Given the description of an element on the screen output the (x, y) to click on. 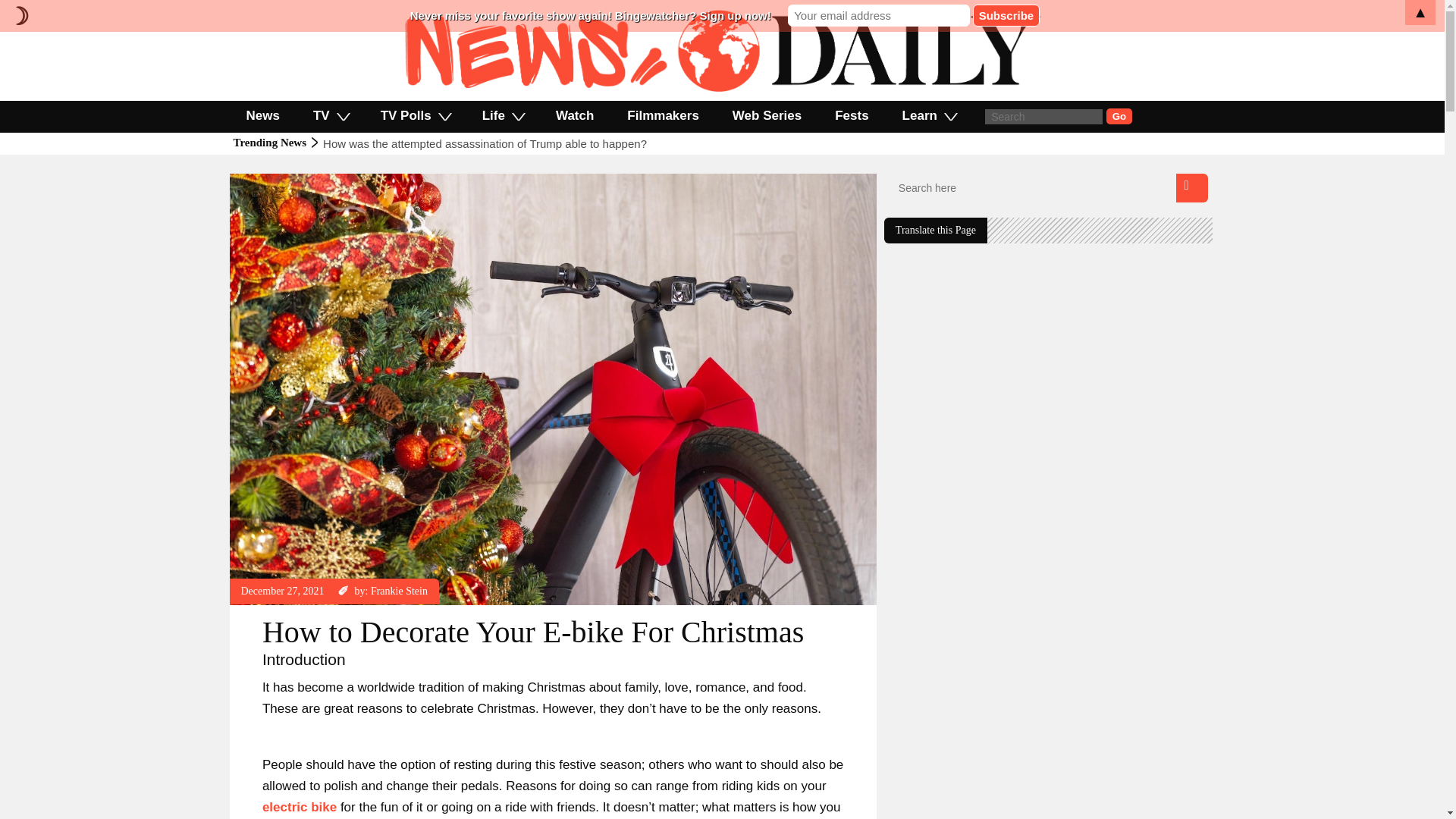
December 27, 2021 (282, 591)
Go (1119, 116)
Life (501, 115)
Fests (851, 115)
Subscribe (1006, 15)
Go (1119, 116)
RIP Shannen Doherty: here are her most iconic roles (456, 143)
TV (330, 115)
TV Polls (414, 115)
Watch (574, 115)
Go (1119, 116)
Learn (928, 115)
Filmmakers (663, 115)
Lifestyle (259, 180)
Web Series (767, 115)
